Given the description of an element on the screen output the (x, y) to click on. 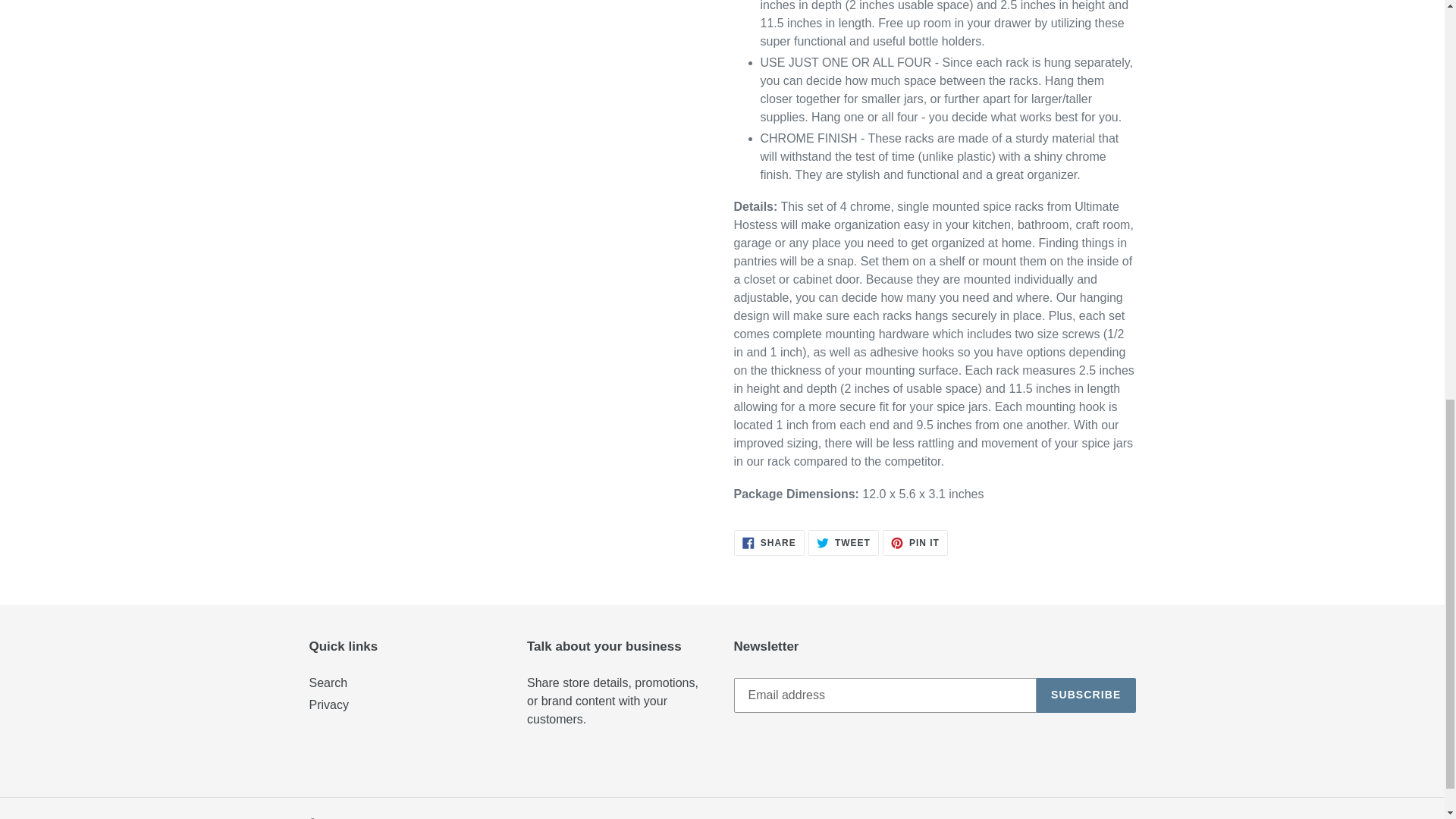
SUBSCRIBE (769, 542)
Powered by Shopify (1085, 695)
Search (446, 817)
Privacy (843, 542)
Eddy Duvall (327, 682)
